Given the description of an element on the screen output the (x, y) to click on. 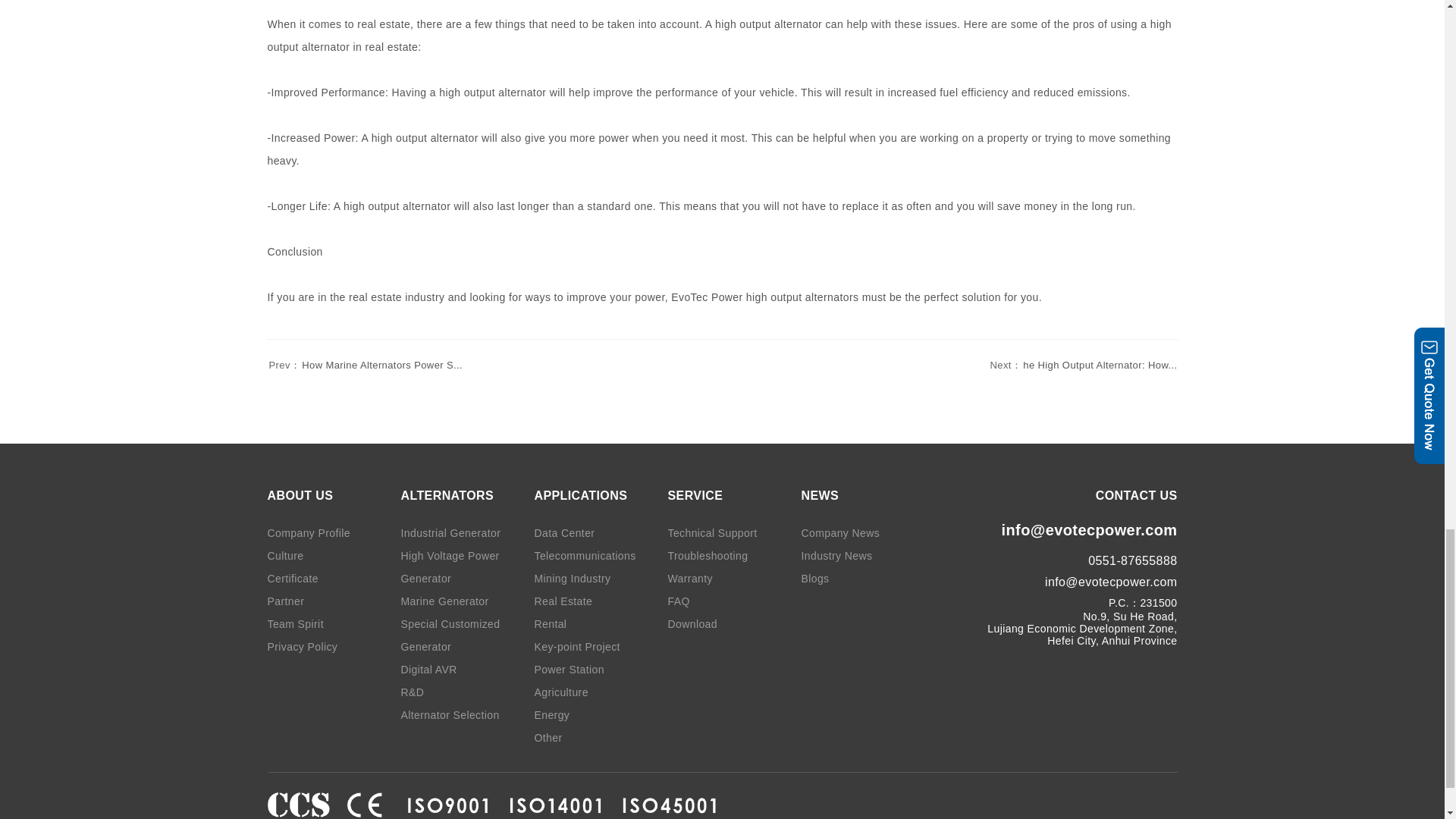
How Marine Alternators Power Ships (364, 365)
